Given the description of an element on the screen output the (x, y) to click on. 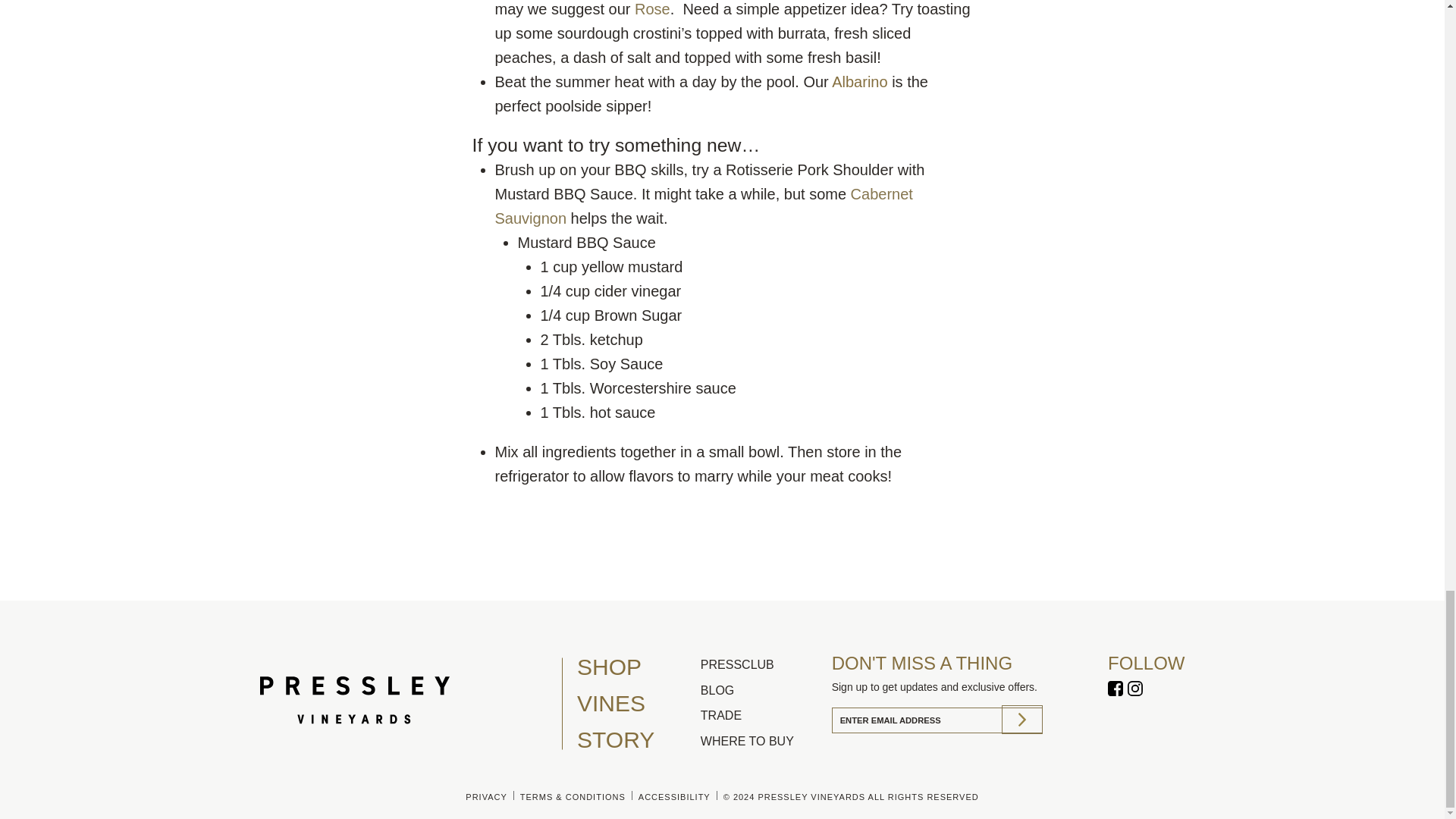
BLOG (761, 690)
Blog (761, 690)
Vines (633, 703)
Shop (633, 667)
PRIVACY (486, 796)
Pressley Vineyards (1134, 690)
STORY (633, 739)
WHERE TO BUY (761, 741)
PressleyVineyards (1115, 690)
Pressley Vineyards Homepage (409, 703)
TRADE (761, 715)
Trade (761, 715)
PRESSCLUB (761, 664)
Story (633, 739)
VINES (633, 703)
